Given the description of an element on the screen output the (x, y) to click on. 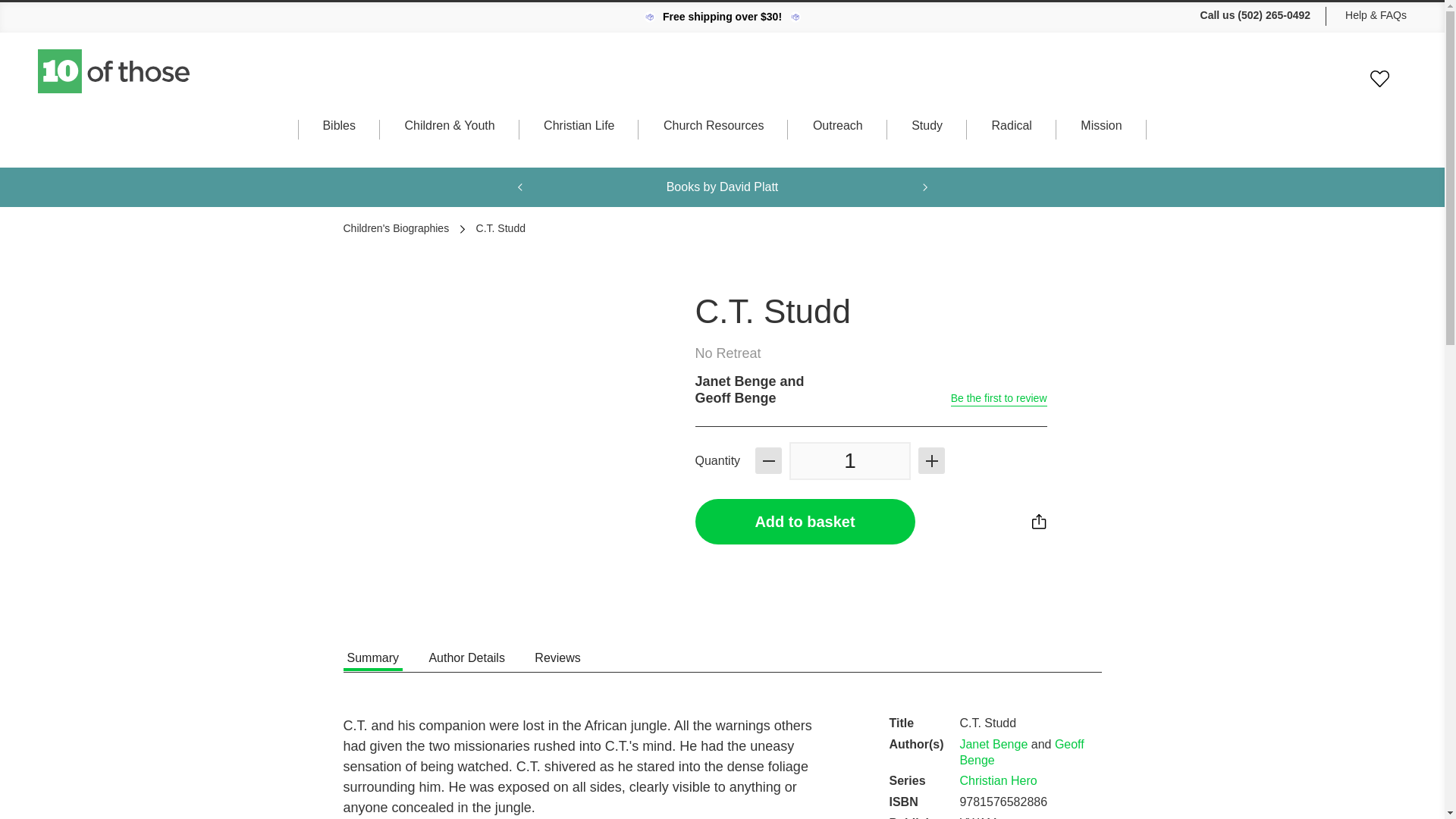
Favourites (1379, 78)
1 (850, 460)
Christian Life (578, 140)
10 of those (114, 71)
